Given the description of an element on the screen output the (x, y) to click on. 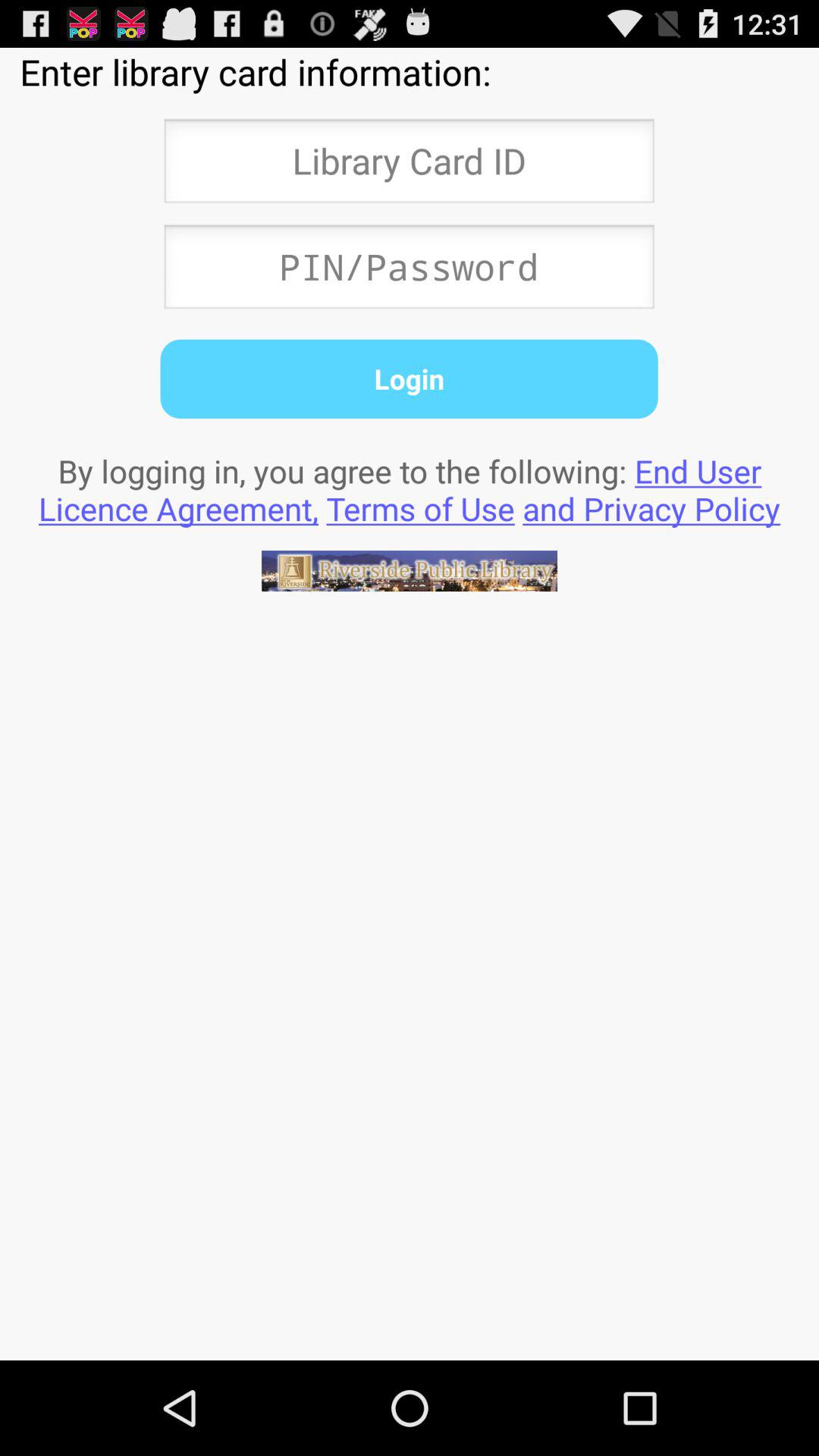
turn on the by logging in (409, 489)
